Given the description of an element on the screen output the (x, y) to click on. 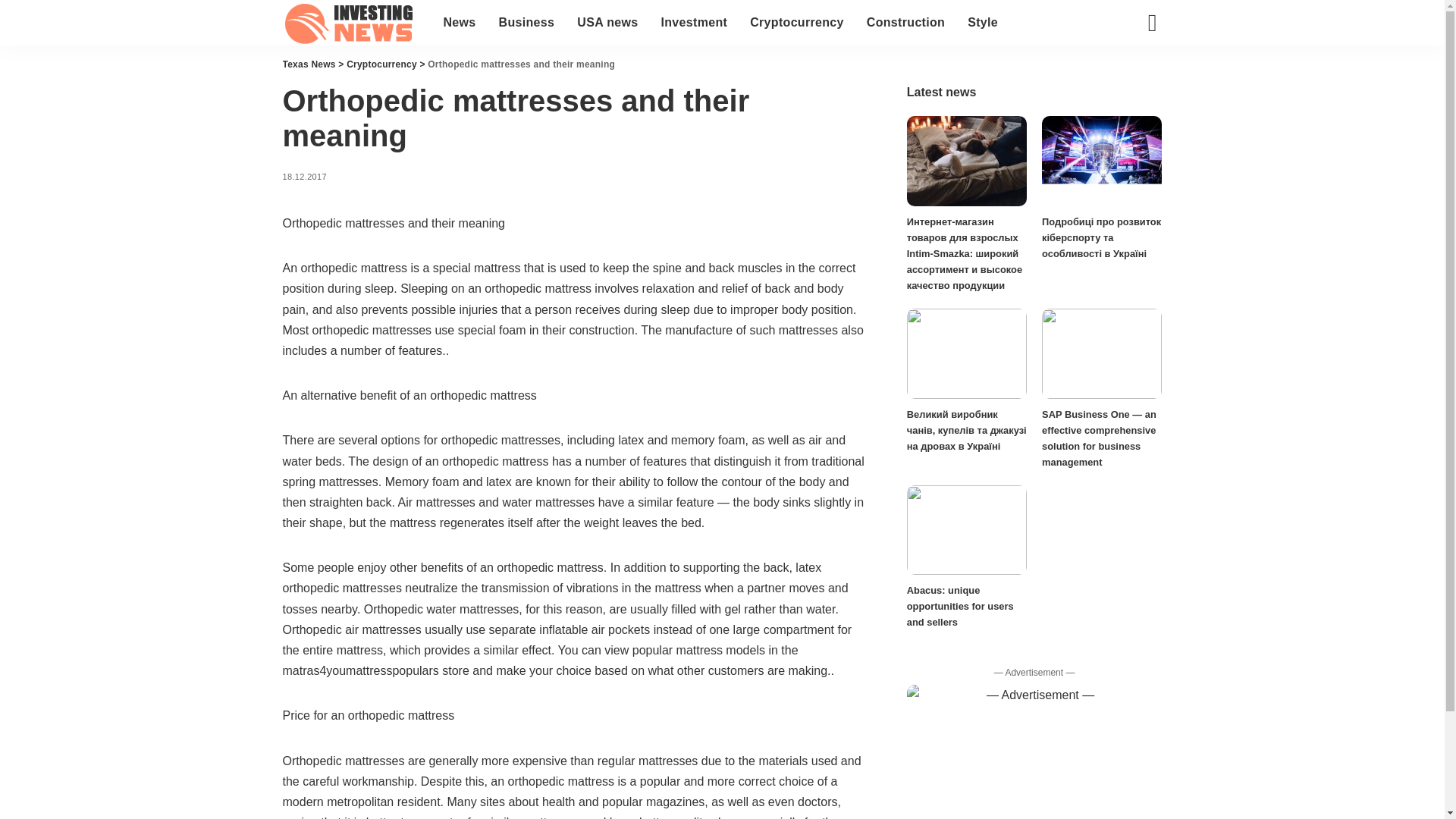
News (459, 22)
Cryptocurrency (797, 22)
Texas News (351, 22)
Construction (906, 22)
Investment (693, 22)
USA news (607, 22)
Style (982, 22)
Business (526, 22)
